Given the description of an element on the screen output the (x, y) to click on. 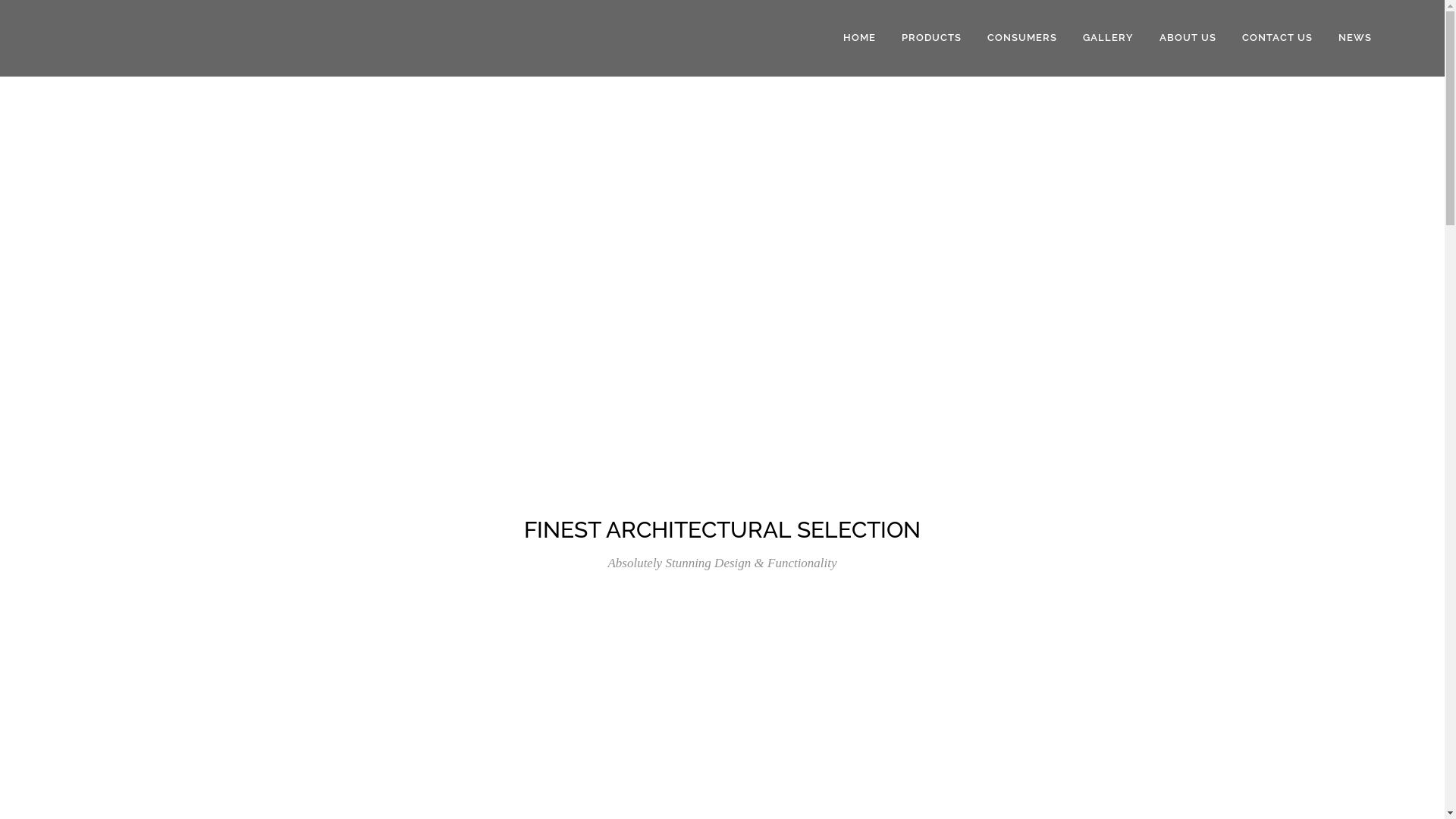
Residential Consumers Element type: text (797, 690)
Commercial Consumers Element type: text (800, 663)
GALLERY Element type: text (1108, 37)
ABOUT US Element type: text (1187, 37)
NEWS Element type: text (1354, 37)
Twiisted Media Element type: text (834, 798)
PRODUCTS Element type: text (931, 37)
CONTACT US Element type: text (1277, 37)
CONSUMERS Element type: text (1022, 37)
HOME Element type: text (859, 37)
